Given the description of an element on the screen output the (x, y) to click on. 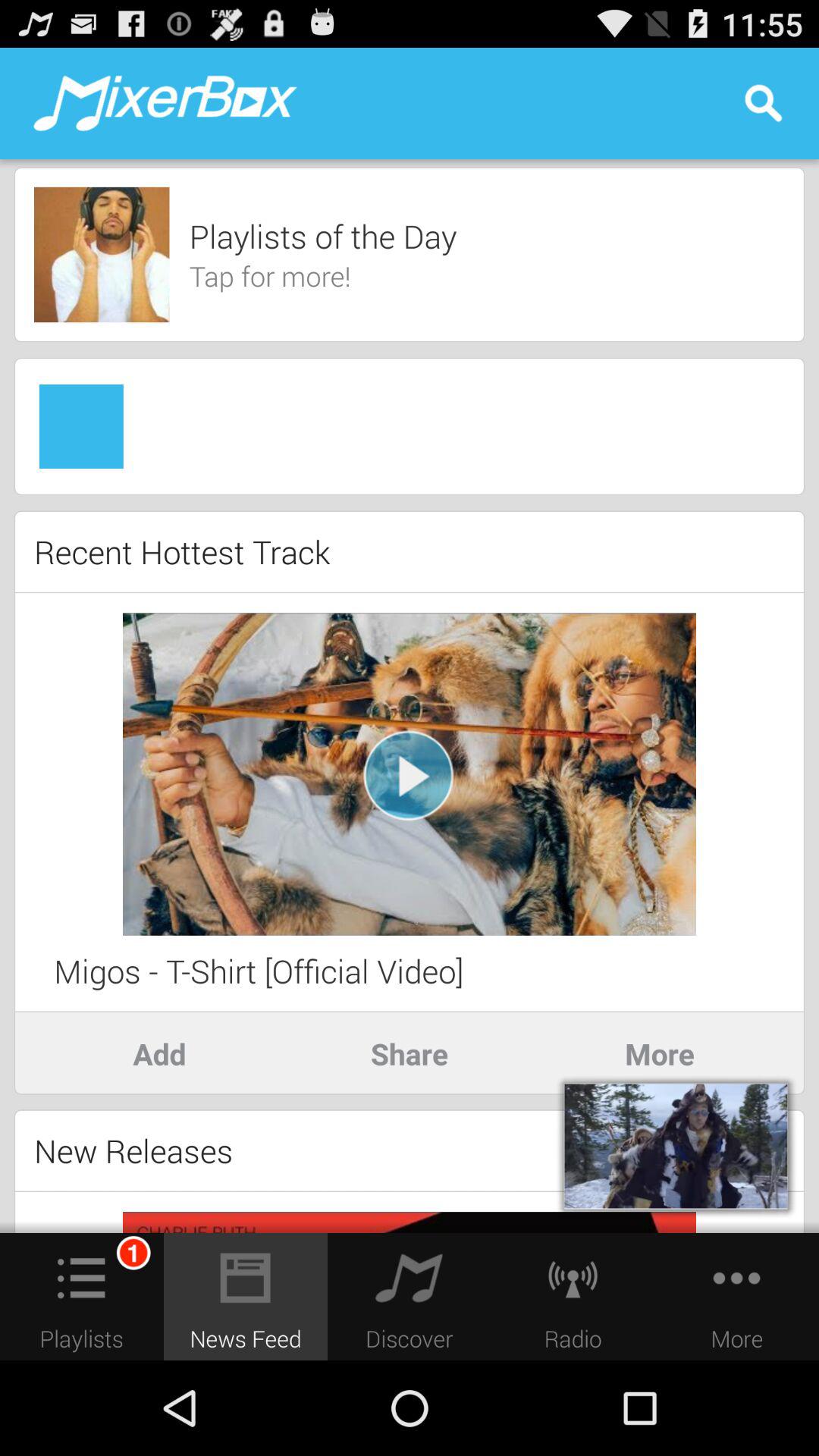
turn off add (159, 1053)
